Given the description of an element on the screen output the (x, y) to click on. 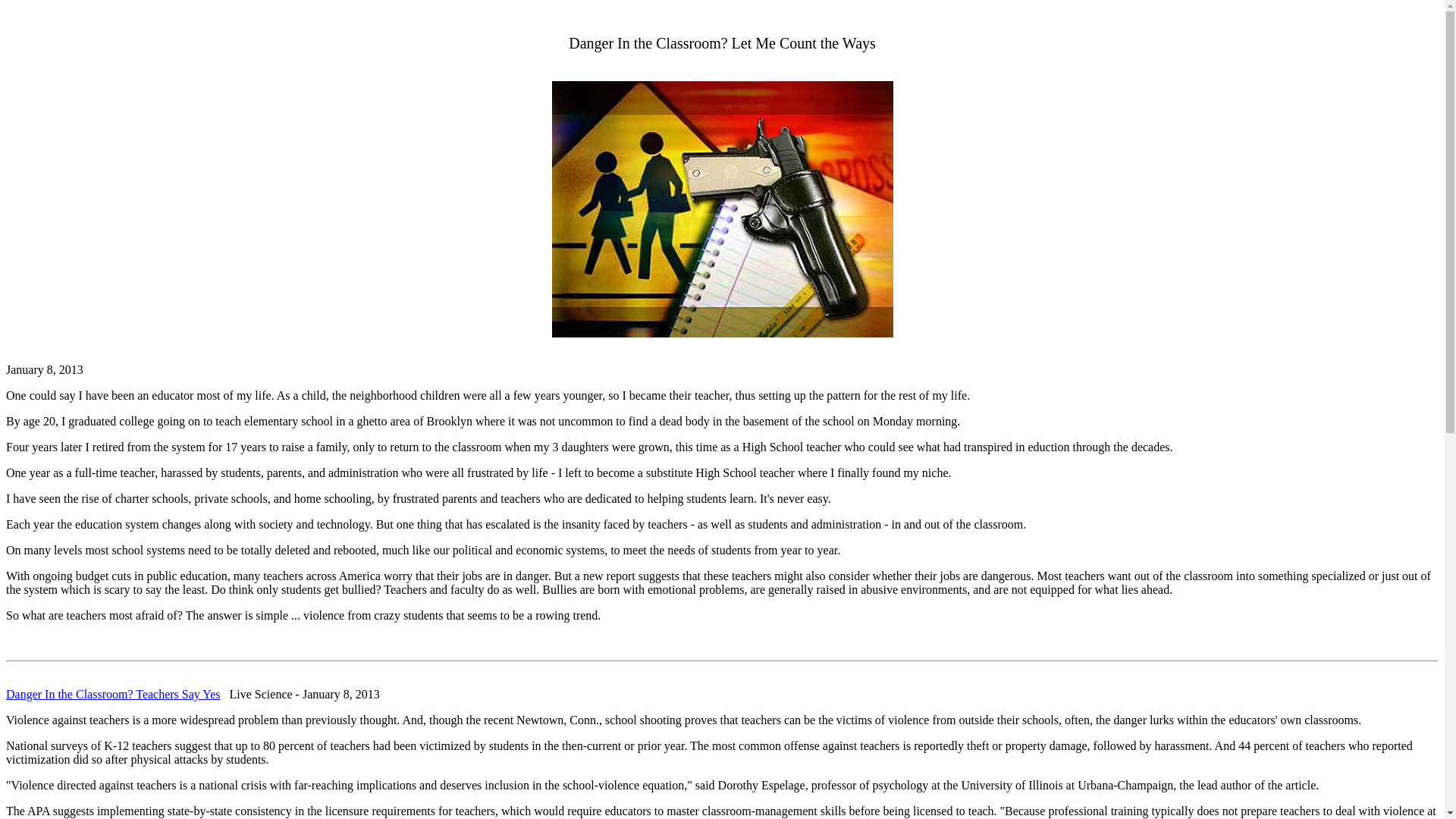
Danger In the Classroom? Teachers Say Yes (113, 694)
